Given the description of an element on the screen output the (x, y) to click on. 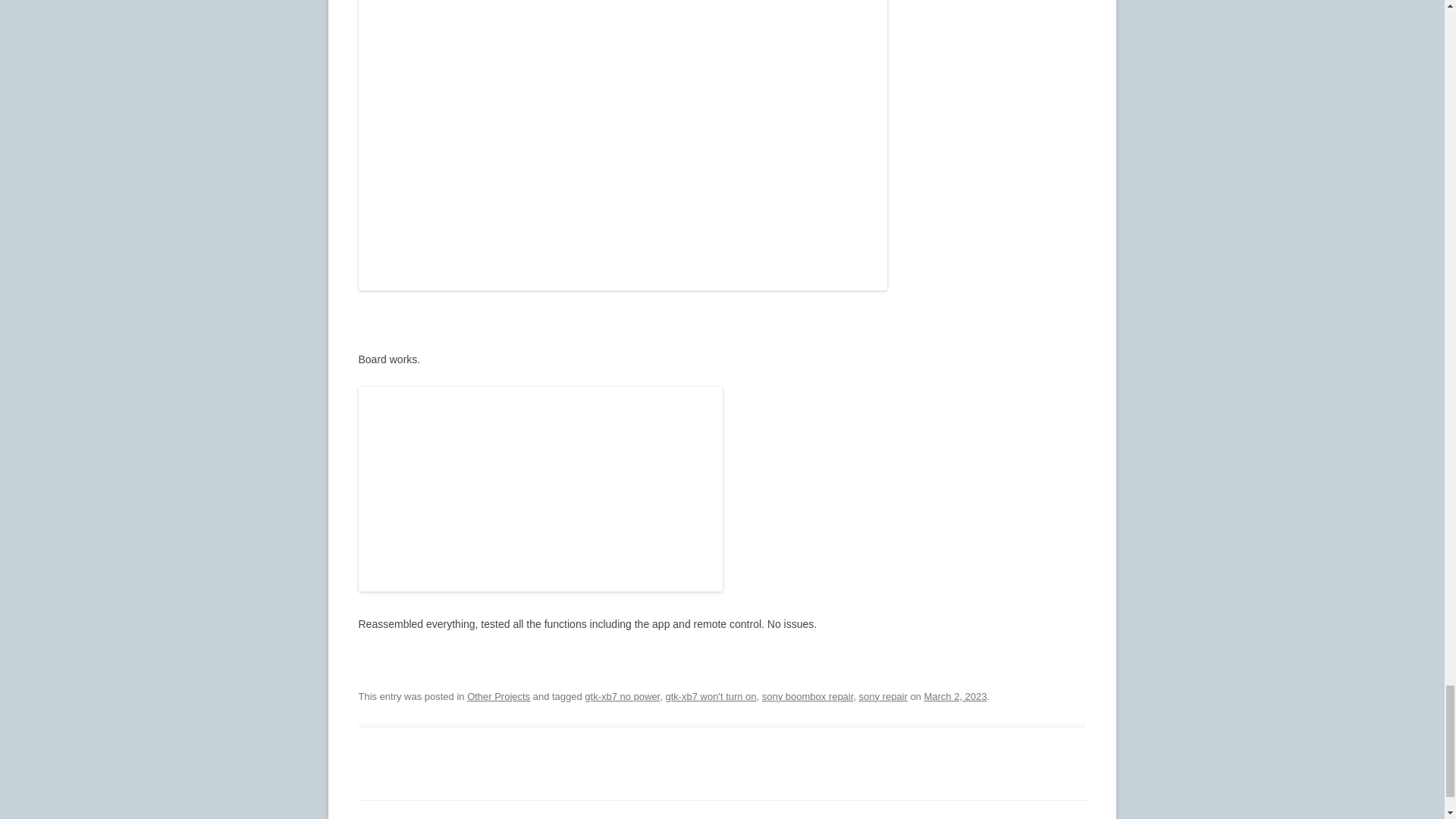
gtk-xb7 no power (622, 696)
Other Projects (498, 696)
sony boombox repair (807, 696)
gtk-xb7 won't turn on (710, 696)
March 2, 2023 (955, 696)
6:54 pm (955, 696)
sony repair (883, 696)
